Given the description of an element on the screen output the (x, y) to click on. 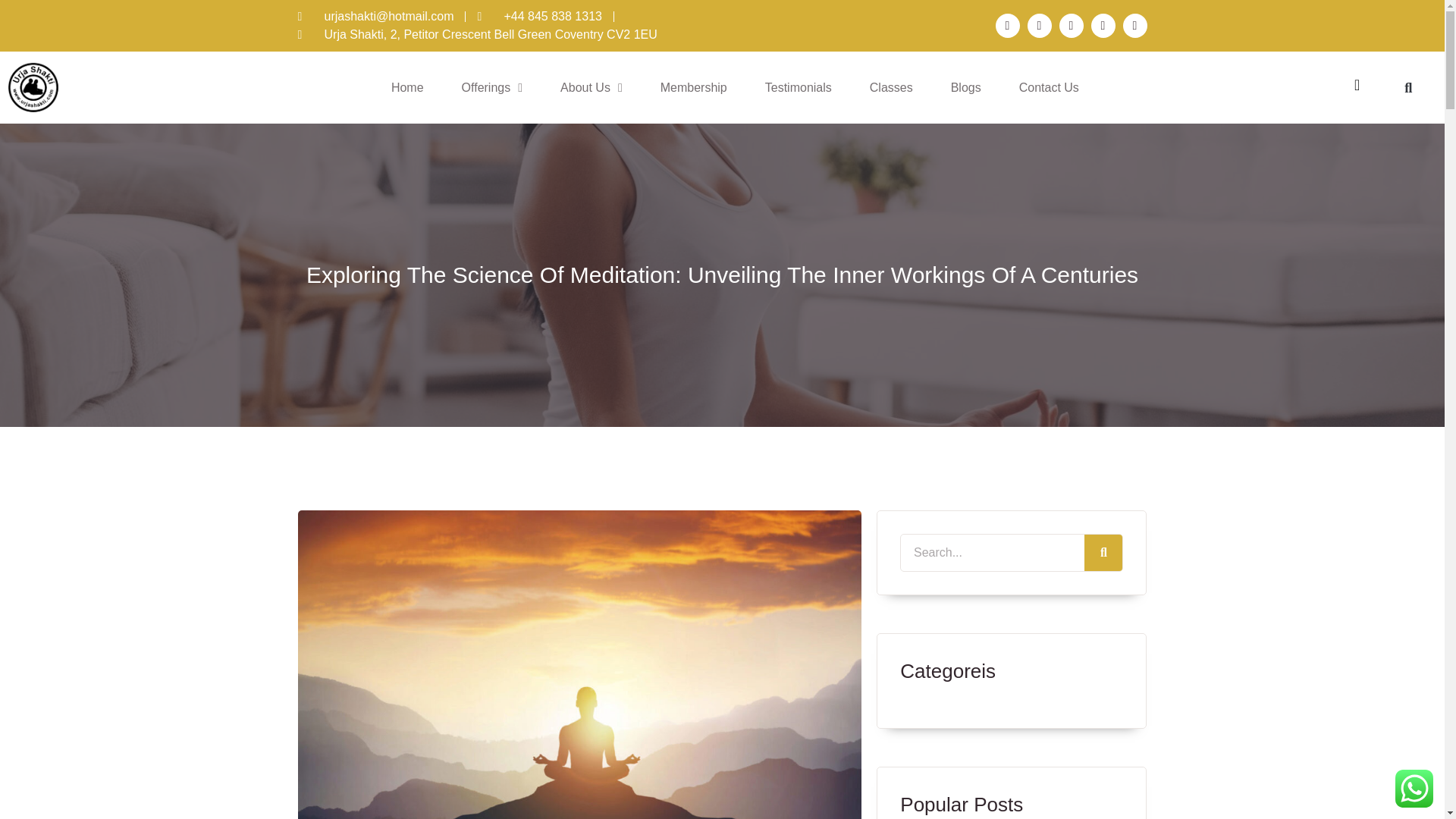
Contact Us (1049, 87)
Membership (693, 87)
Blogs (965, 87)
Home (407, 95)
Urja Shakti, 2, Petitor Crescent Bell Green Coventry CV2 1EU (476, 64)
Testimonials (798, 87)
About Us (590, 87)
Classes (891, 87)
Offerings (491, 94)
